Given the description of an element on the screen output the (x, y) to click on. 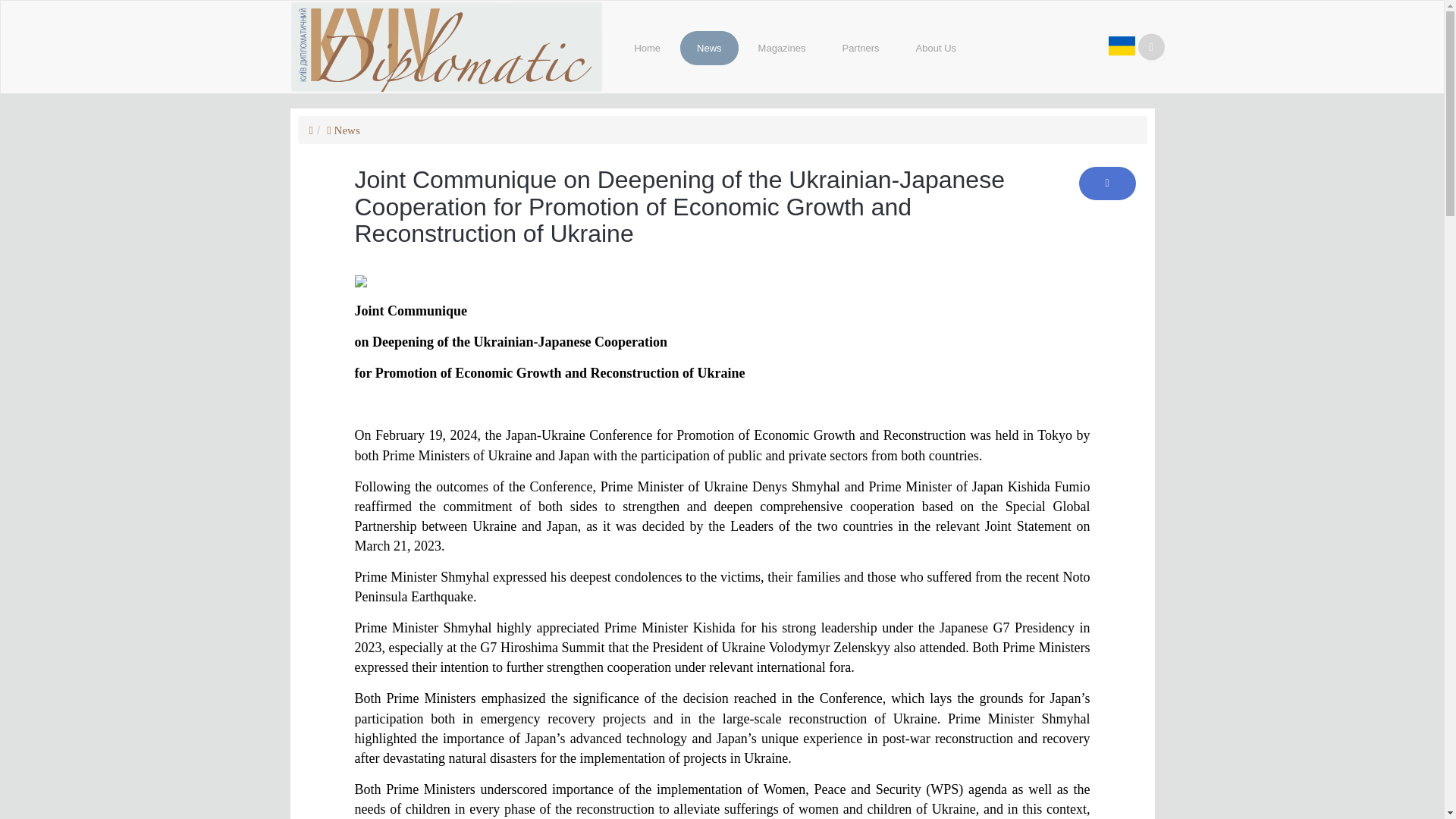
Partners (860, 48)
News (342, 129)
Home (647, 48)
About Us (935, 48)
Magazines (781, 48)
News (708, 48)
